Given the description of an element on the screen output the (x, y) to click on. 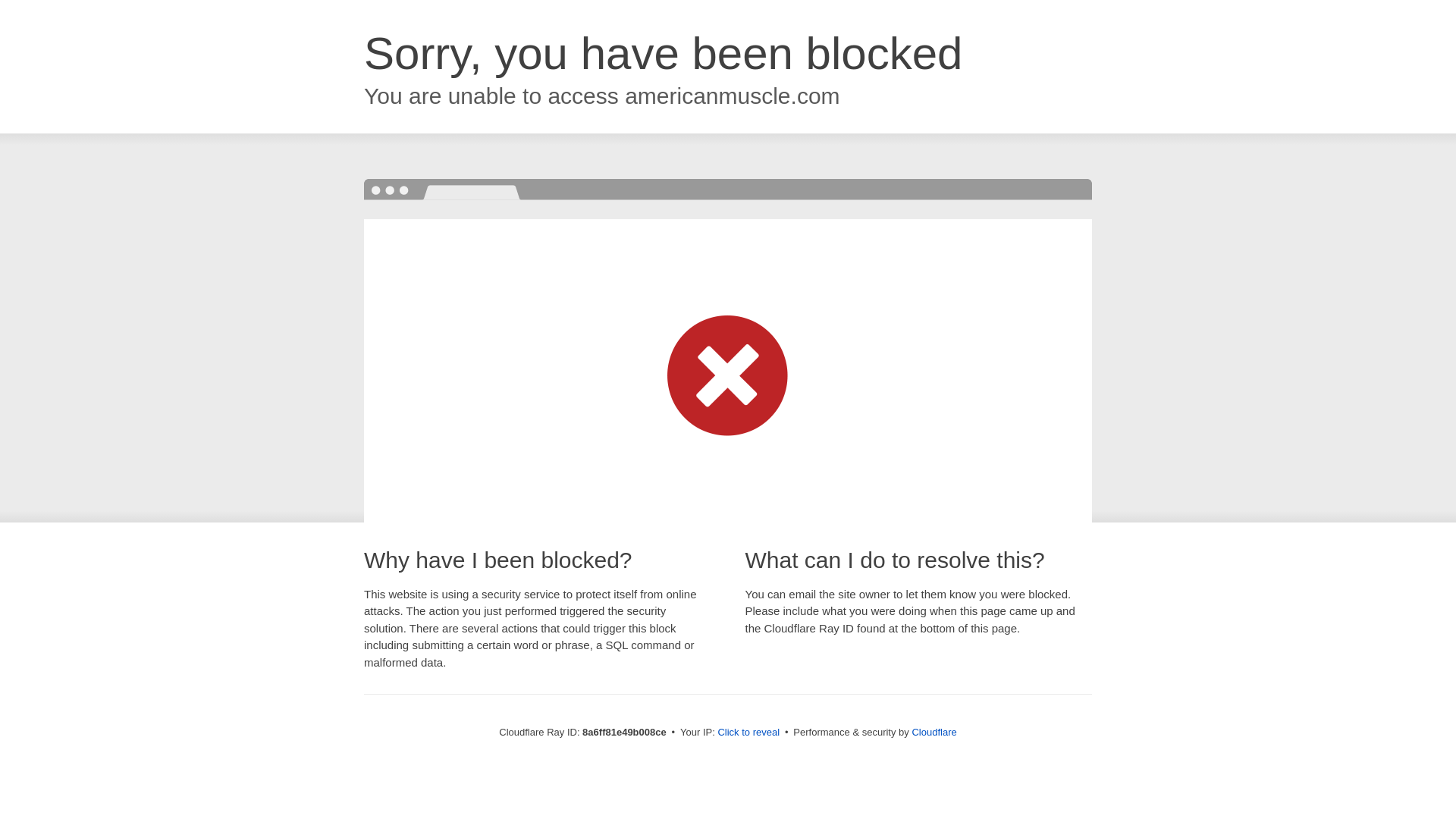
Cloudflare (933, 731)
Click to reveal (747, 732)
